Given the description of an element on the screen output the (x, y) to click on. 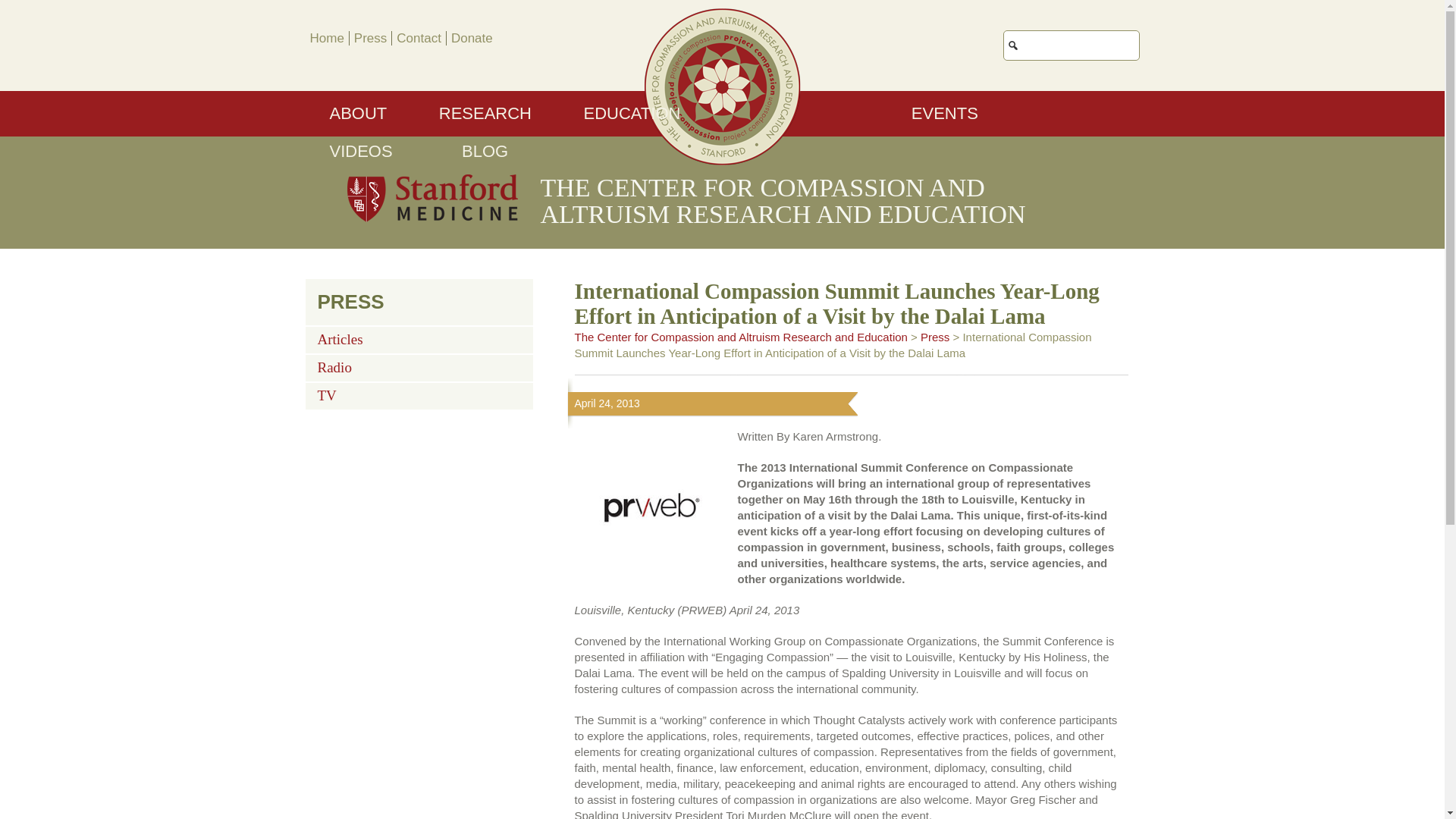
Articles (339, 336)
Go to Press. (934, 336)
Search (1189, 37)
Search (1189, 37)
EDUCATION (631, 113)
Radio (333, 364)
VIDEOS (360, 151)
Search (1189, 37)
Home (326, 38)
RESEARCH (485, 113)
BLOG (484, 151)
ABOUT (357, 113)
Press (934, 336)
EVENTS (944, 113)
